Given the description of an element on the screen output the (x, y) to click on. 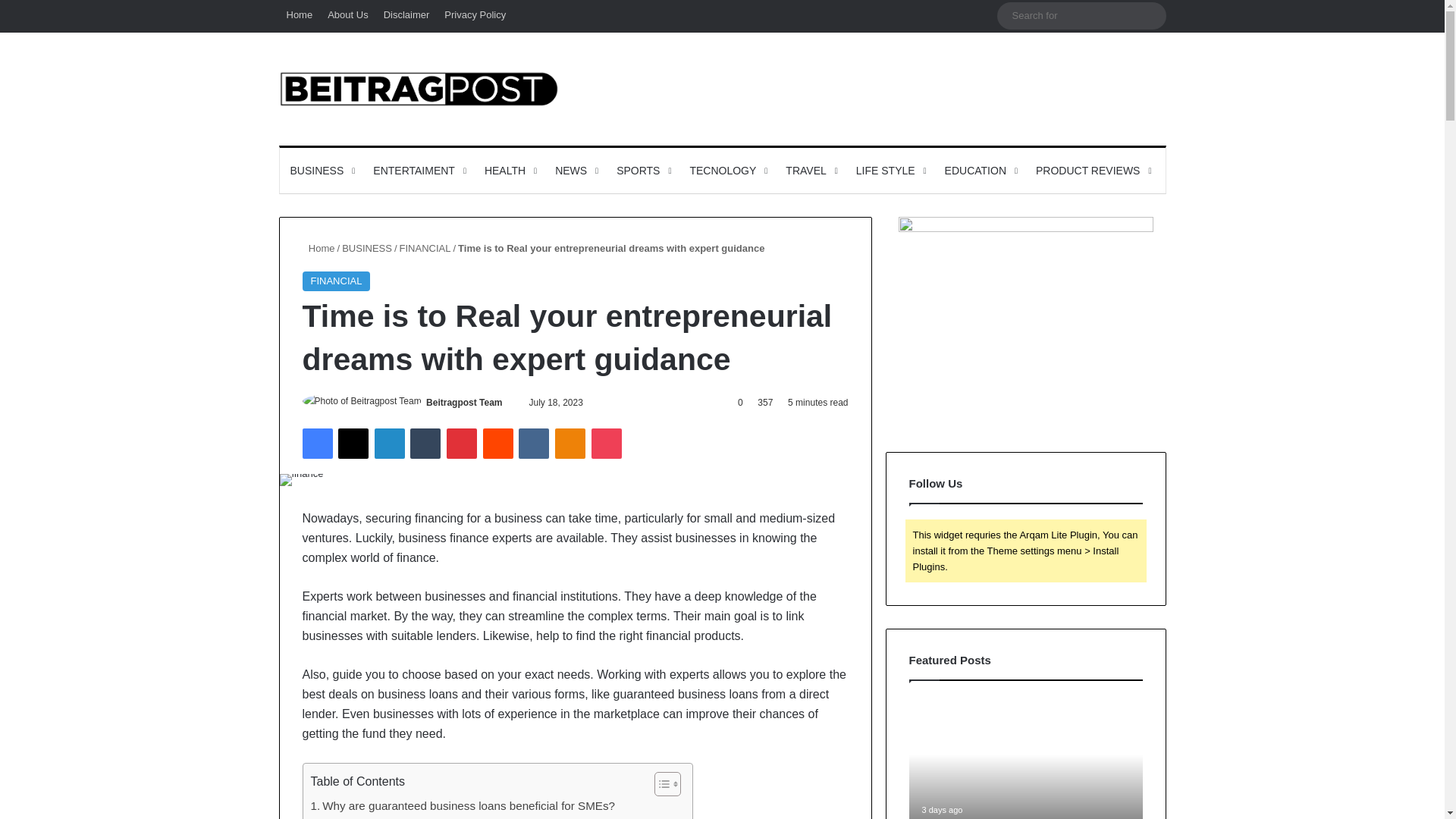
Privacy Policy (474, 15)
Facebook (316, 443)
X (352, 443)
Home (299, 15)
Pocket (606, 443)
NEWS (574, 170)
HEALTH (509, 170)
Search for (1081, 15)
About Us (347, 15)
Reddit (498, 443)
